Given the description of an element on the screen output the (x, y) to click on. 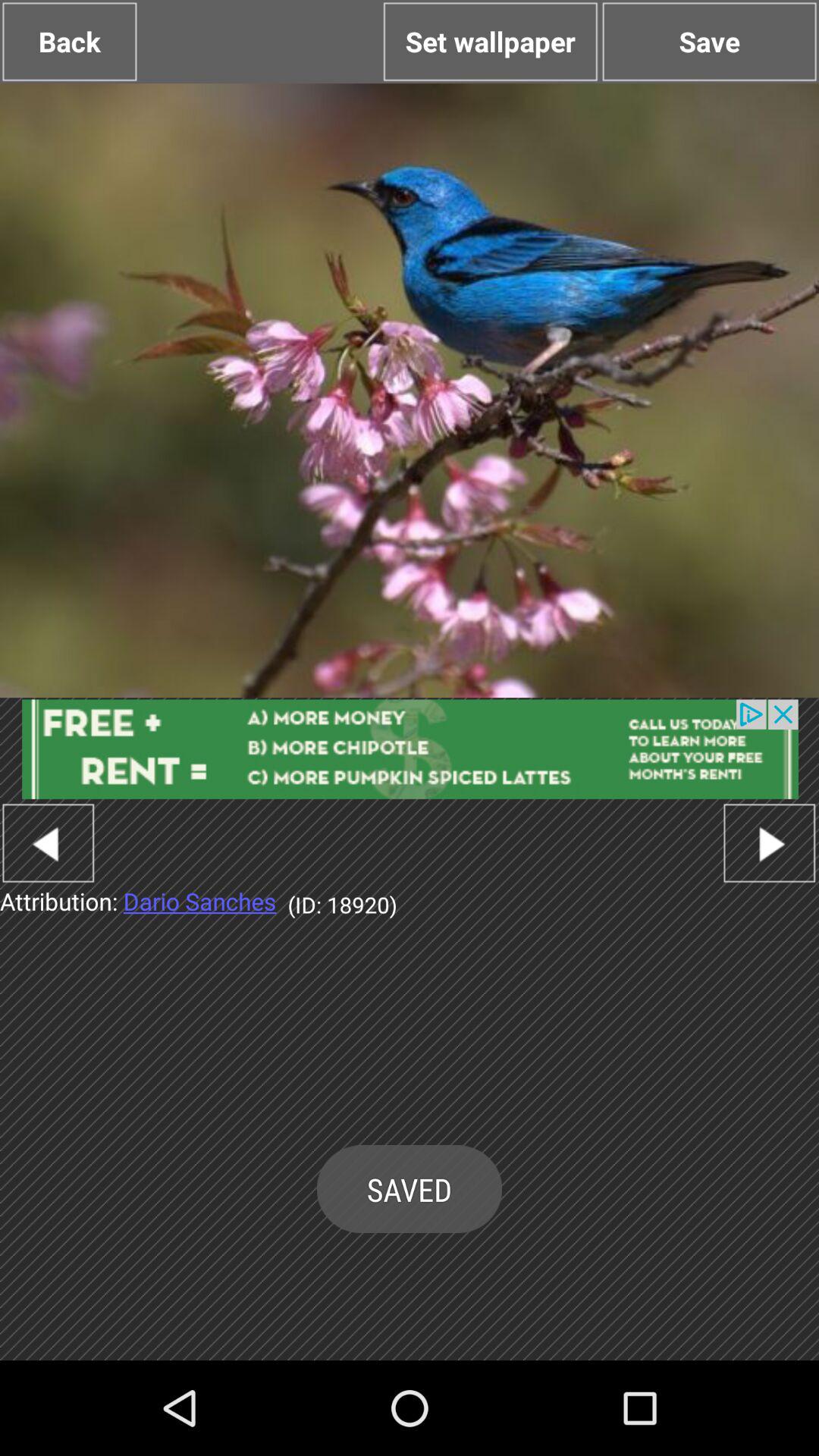
go forward (769, 842)
